Given the description of an element on the screen output the (x, y) to click on. 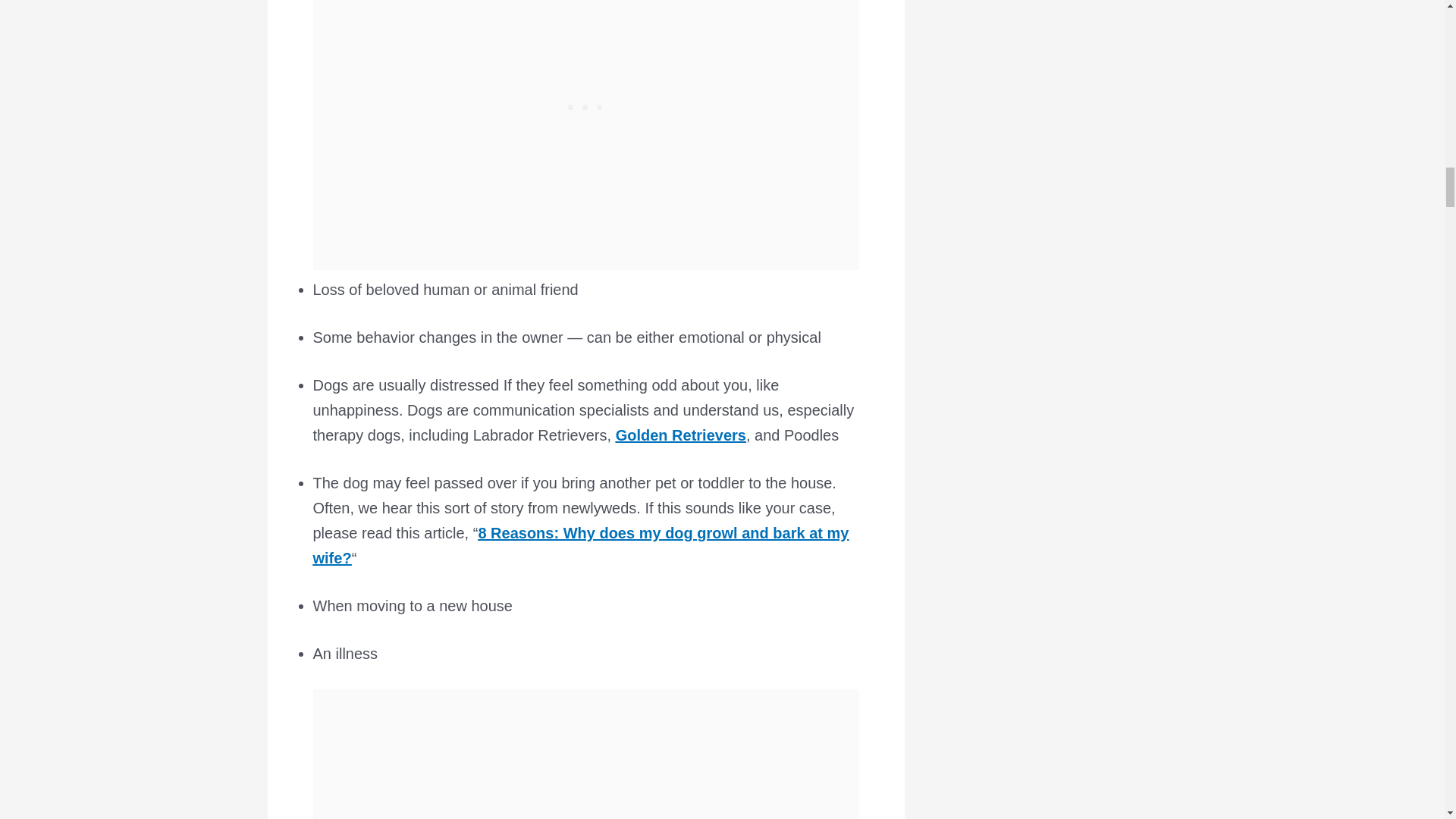
8 Reasons: Why does my dog growl and bark at my wife? (580, 545)
Golden Retrievers (680, 434)
